Given the description of an element on the screen output the (x, y) to click on. 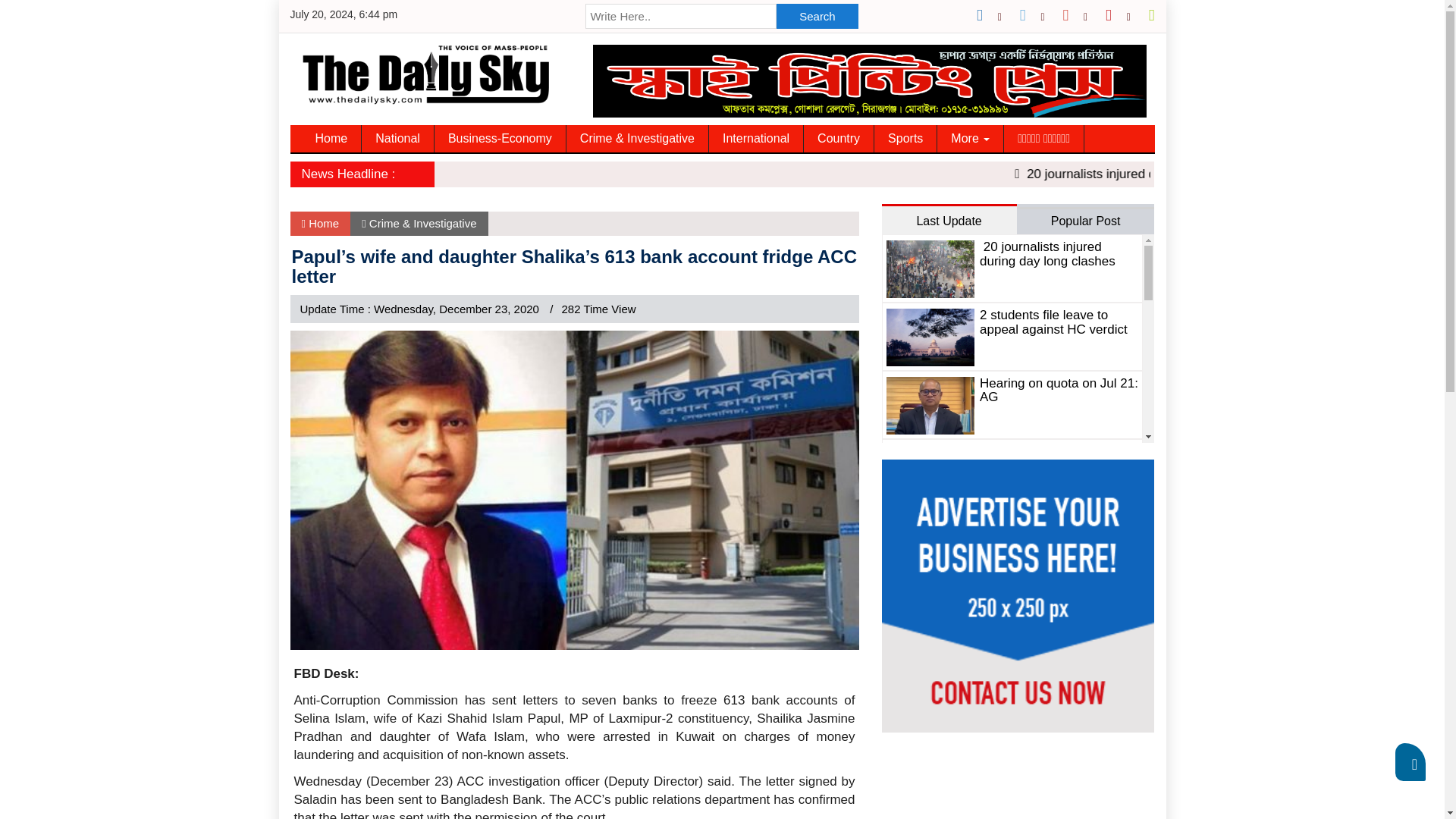
National (397, 138)
Home (331, 138)
Search (817, 16)
International (756, 138)
Sports (906, 138)
Business-Economy (499, 138)
More (970, 138)
Business-Economy (499, 138)
Country (839, 138)
Home (331, 138)
 20 journalists injured during day long clashes (1249, 173)
More (970, 138)
Sports (906, 138)
International (756, 138)
National (397, 138)
